Given the description of an element on the screen output the (x, y) to click on. 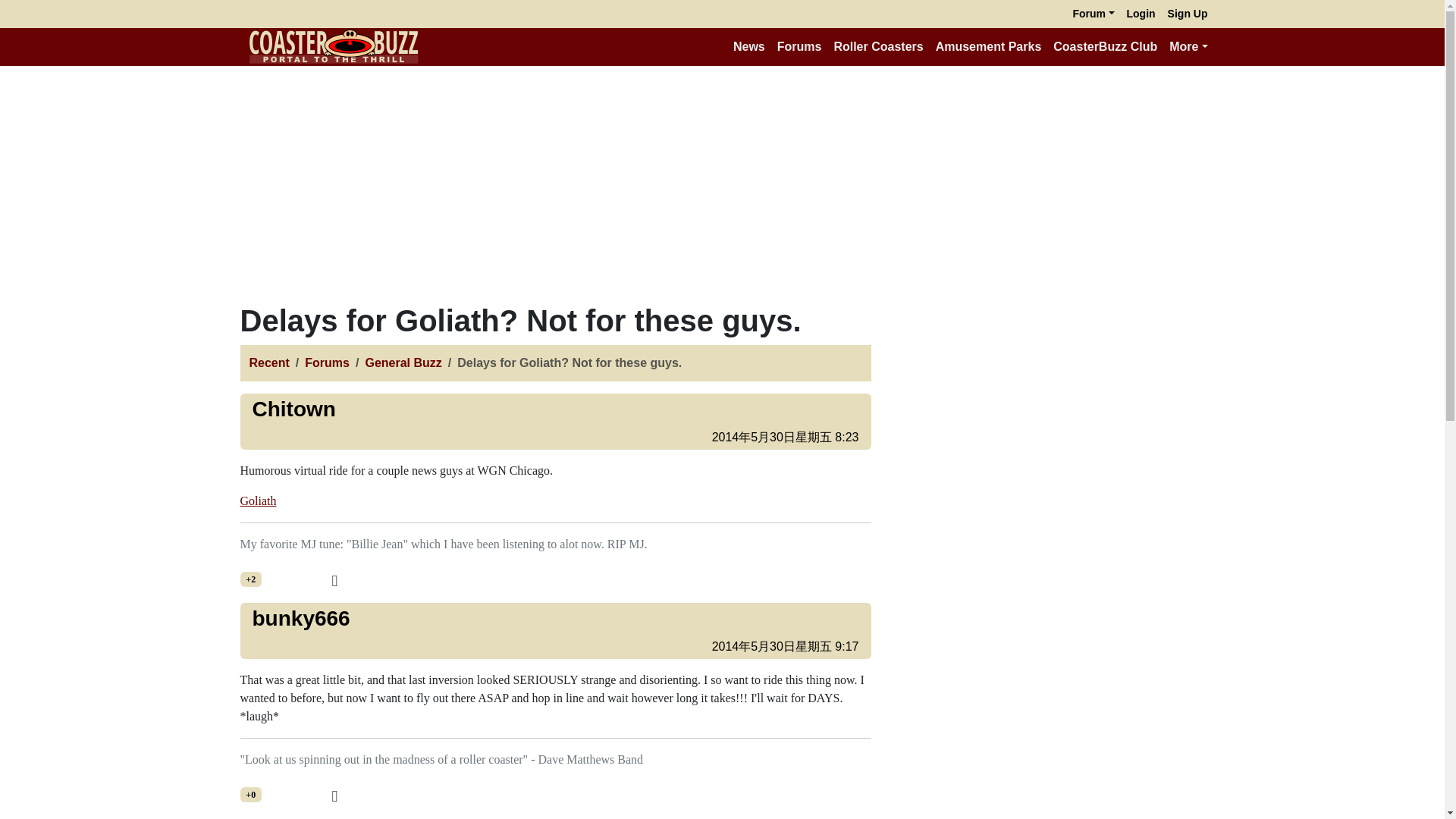
Advertisement (1055, 633)
Recent (268, 362)
Roller Coasters (877, 46)
Advertisement (1055, 408)
Goliath (258, 500)
CoasterBuzz Club (1104, 46)
Forums (799, 46)
Forums (326, 362)
Forum (1092, 13)
